Given the description of an element on the screen output the (x, y) to click on. 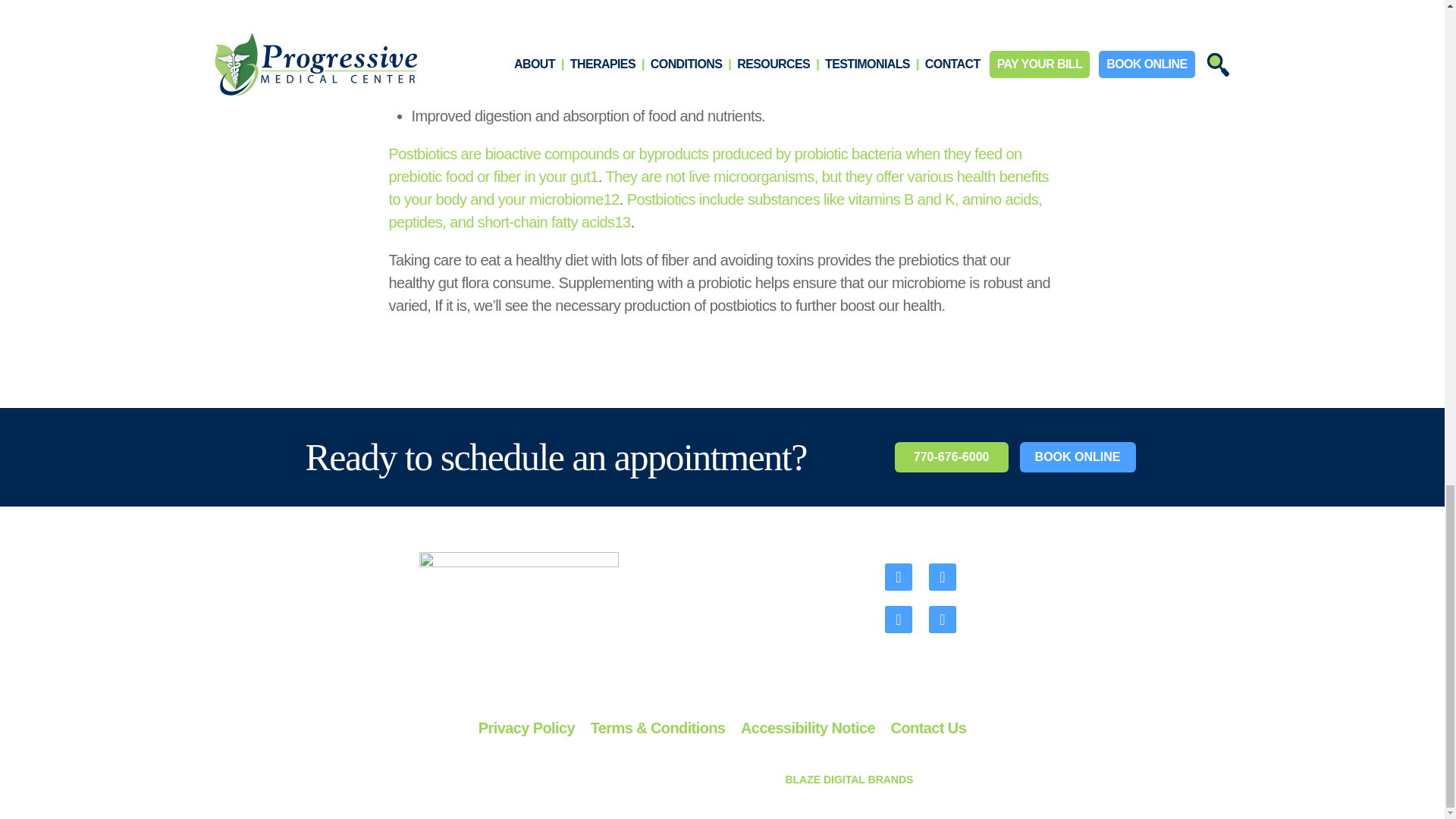
LinkedIn (941, 619)
Instagram (941, 576)
Facebook (897, 576)
Youtube (897, 619)
